Given the description of an element on the screen output the (x, y) to click on. 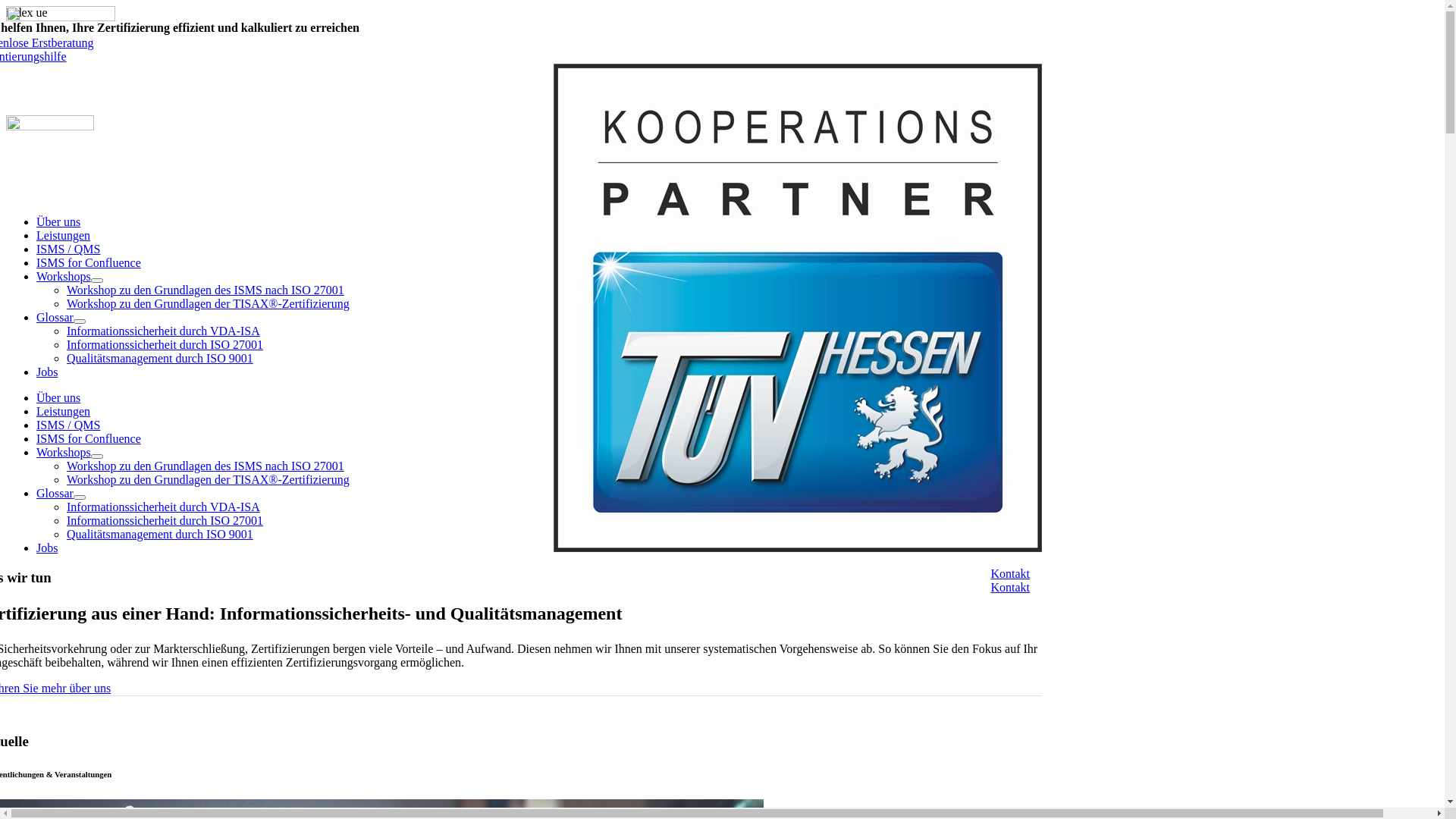
Workshop zu den Grundlagen des ISMS nach ISO 27001 Element type: text (205, 465)
Leistungen Element type: text (63, 235)
Informationssicherheit durch ISO 27001 Element type: text (164, 520)
Glossar Element type: text (54, 492)
ISMS for Confluence Element type: text (88, 262)
Workshops Element type: text (63, 451)
Kontakt Element type: text (1009, 573)
Workshops Element type: text (63, 275)
ISMS for Confluence Element type: text (88, 438)
Jobs Element type: text (46, 547)
Jobs Element type: text (46, 371)
Informationssicherheit durch ISO 27001 Element type: text (164, 344)
Workshop zu den Grundlagen des ISMS nach ISO 27001 Element type: text (205, 289)
Informationssicherheit durch VDA-ISA Element type: text (163, 330)
Skip to content Element type: text (5, 5)
ISMS / QMS Element type: text (68, 424)
Kontakt Element type: text (1009, 586)
Informationssicherheit durch VDA-ISA Element type: text (163, 506)
ISMS / QMS Element type: text (68, 248)
Glossar Element type: text (54, 316)
Leistungen Element type: text (63, 410)
